Given the description of an element on the screen output the (x, y) to click on. 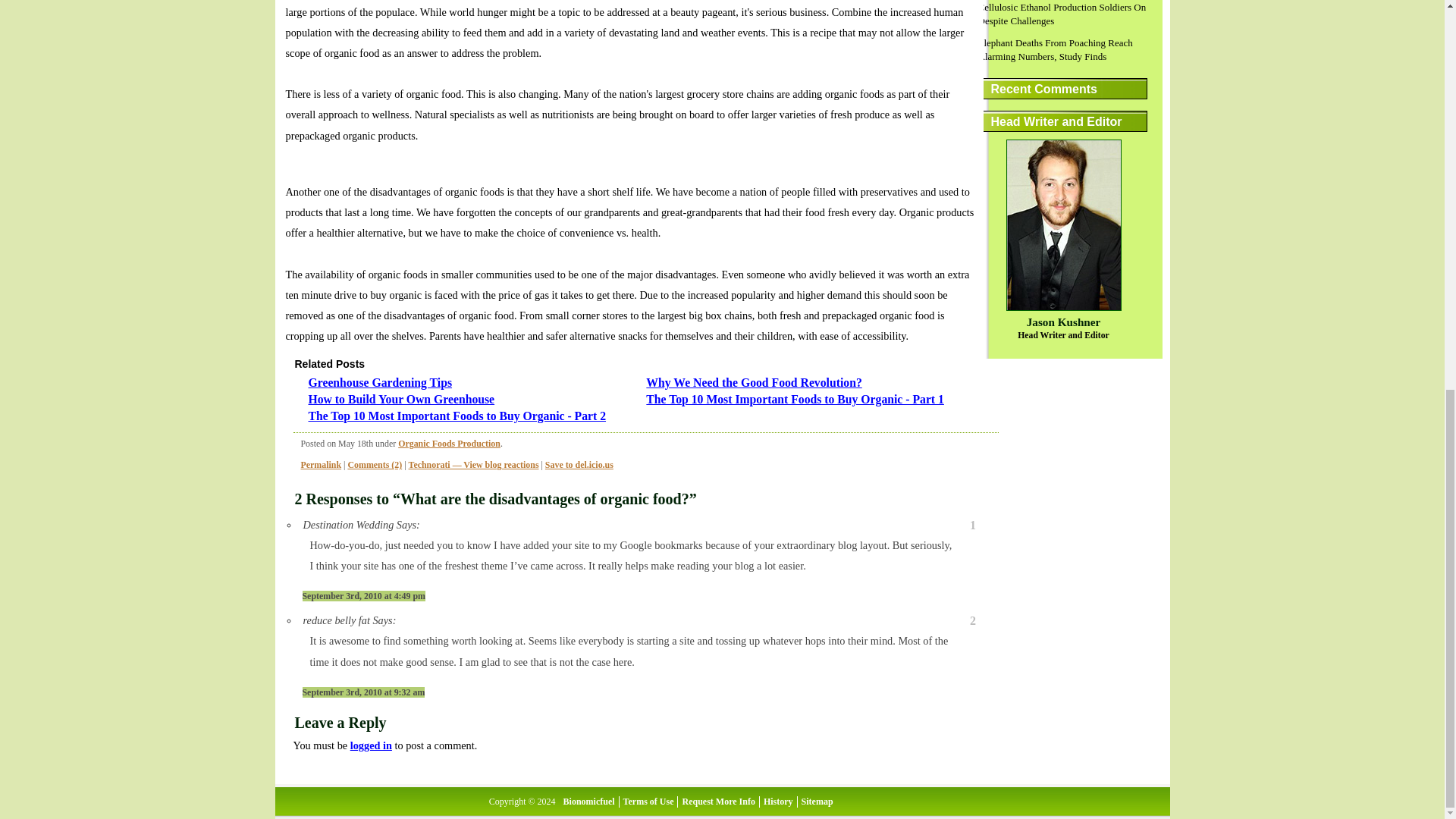
How to Build Your Own Greenhouse (401, 399)
The Top 10 Most Important Foods to Buy Organic - Part 1 (794, 399)
Why We Need the Good Food Revolution? (753, 382)
Organic Foods Production (448, 443)
The Top 10 Most Important Foods to Buy Organic - Part 2 (456, 415)
Greenhouse Gardening Tips (379, 382)
